Given the description of an element on the screen output the (x, y) to click on. 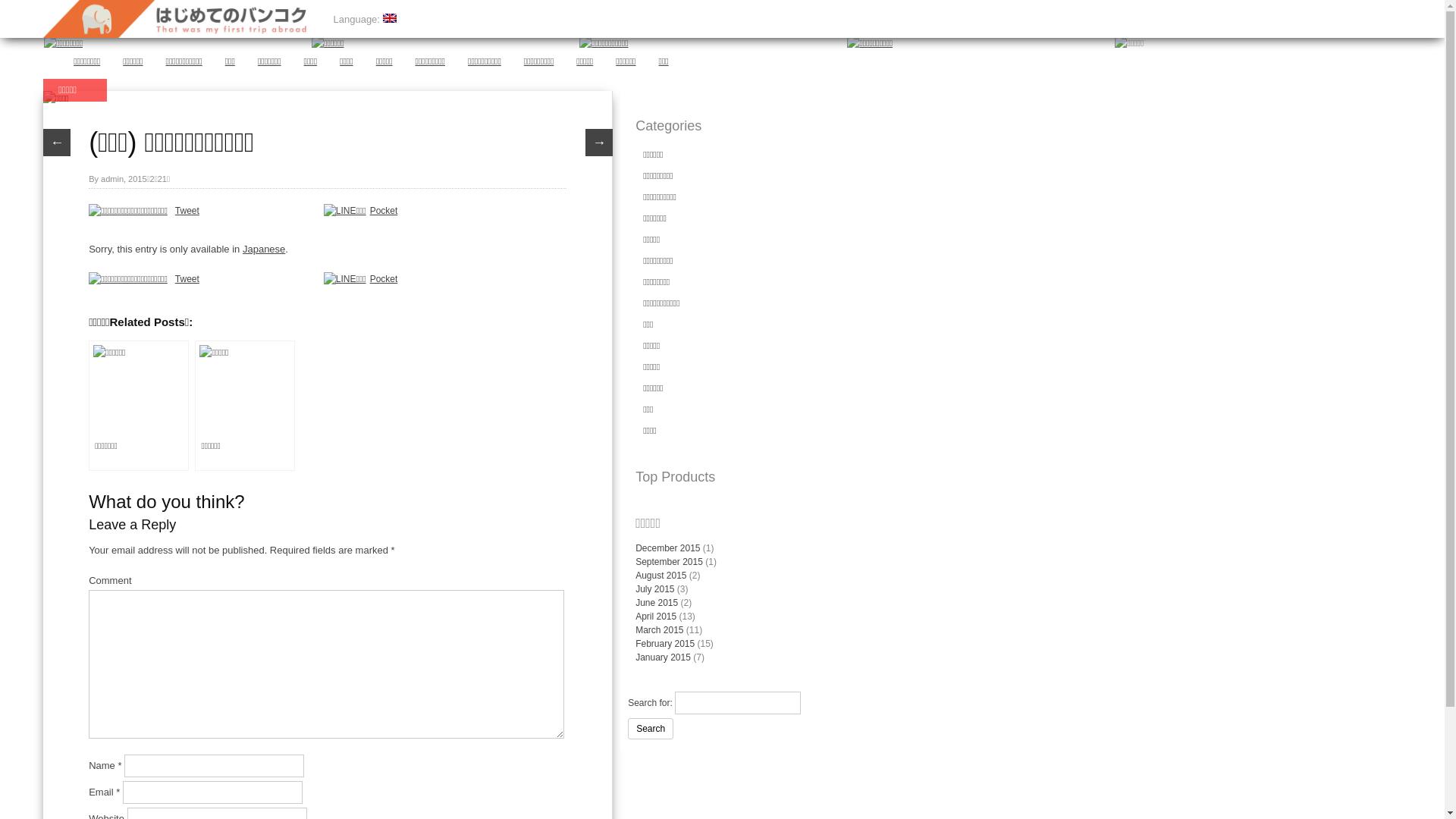
Pocket Element type: text (384, 210)
August 2015 Element type: text (660, 575)
Share on Tumblr Element type: text (285, 279)
Japanese Element type: text (263, 248)
April 2015 Element type: text (655, 616)
July 2015 Element type: text (654, 588)
Language:  Element type: text (364, 19)
Pocket Element type: text (384, 278)
June 2015 Element type: text (656, 602)
Search Element type: text (650, 728)
March 2015 Element type: text (659, 629)
Share on Tumblr Element type: text (285, 211)
February 2015 Element type: text (664, 643)
September 2015 Element type: text (668, 561)
January 2015 Element type: text (662, 657)
Tweet Element type: text (187, 210)
Tweet Element type: text (187, 278)
December 2015 Element type: text (667, 547)
